Given the description of an element on the screen output the (x, y) to click on. 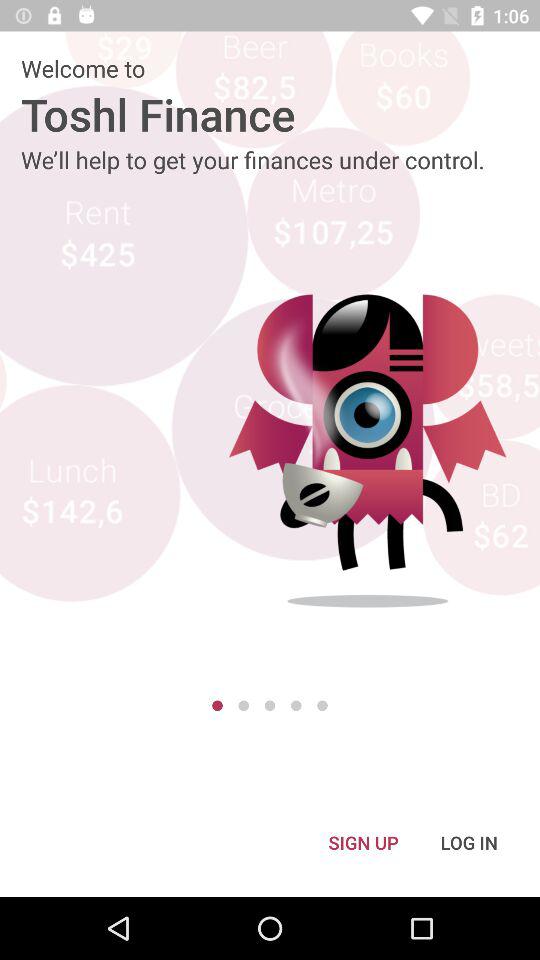
jump to the sign up item (363, 842)
